Given the description of an element on the screen output the (x, y) to click on. 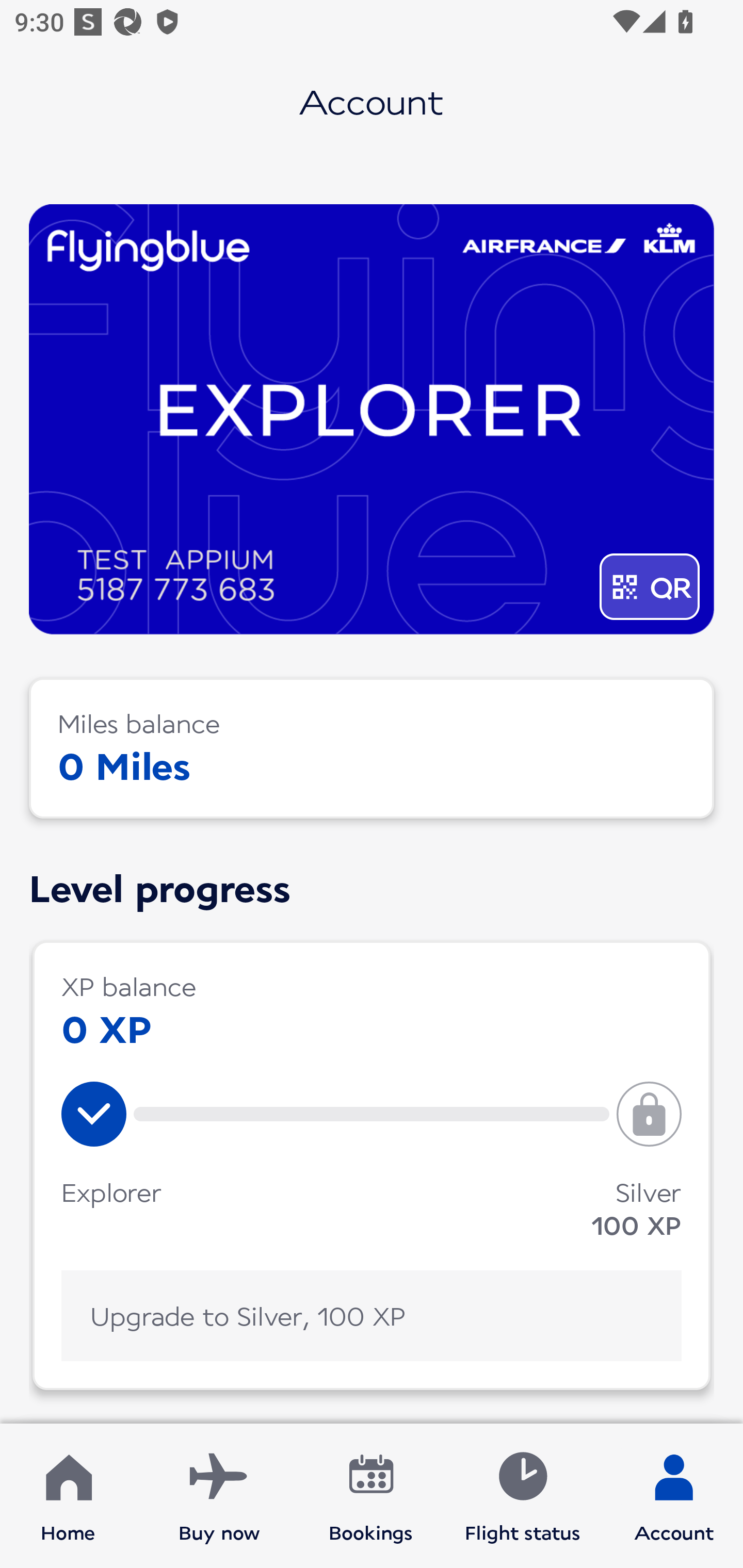
Miles balance 0 Miles (371, 747)
Home (68, 1495)
Buy now (219, 1495)
Bookings (370, 1495)
Flight status (522, 1495)
